Given the description of an element on the screen output the (x, y) to click on. 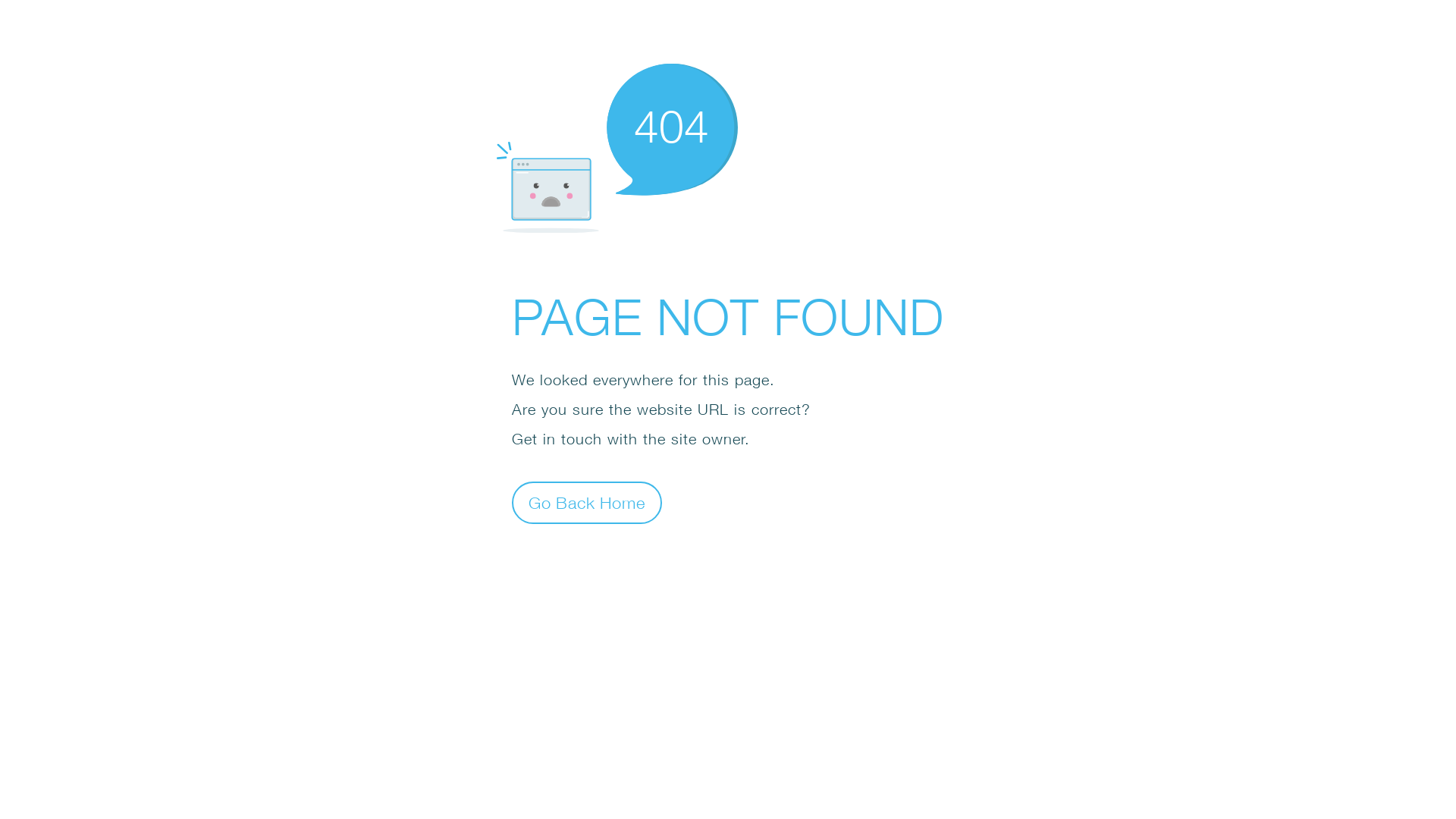
Go Back Home Element type: text (586, 502)
